Given the description of an element on the screen output the (x, y) to click on. 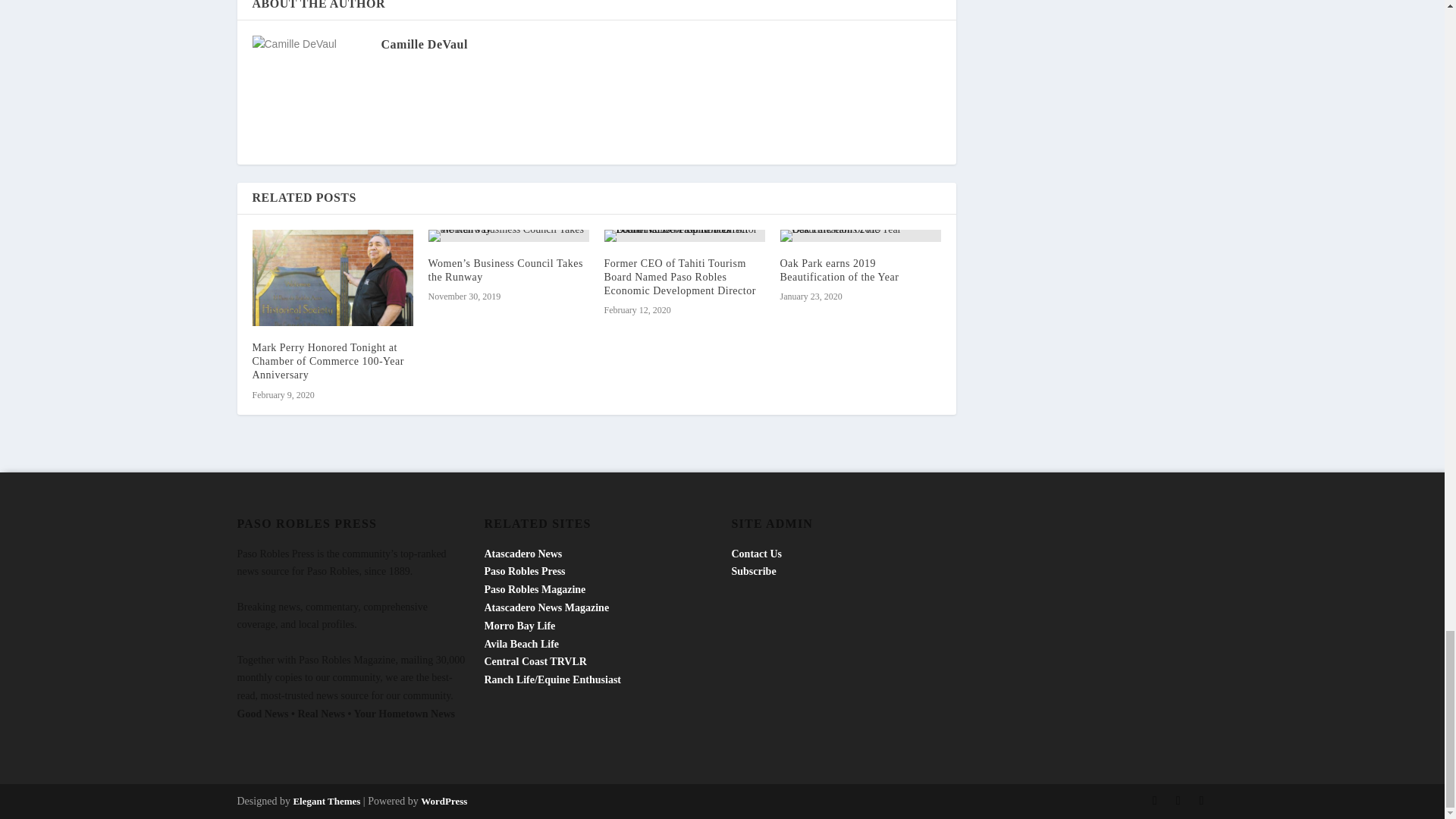
View all posts by Camille DeVaul (423, 43)
Camille DeVaul (423, 43)
